Given the description of an element on the screen output the (x, y) to click on. 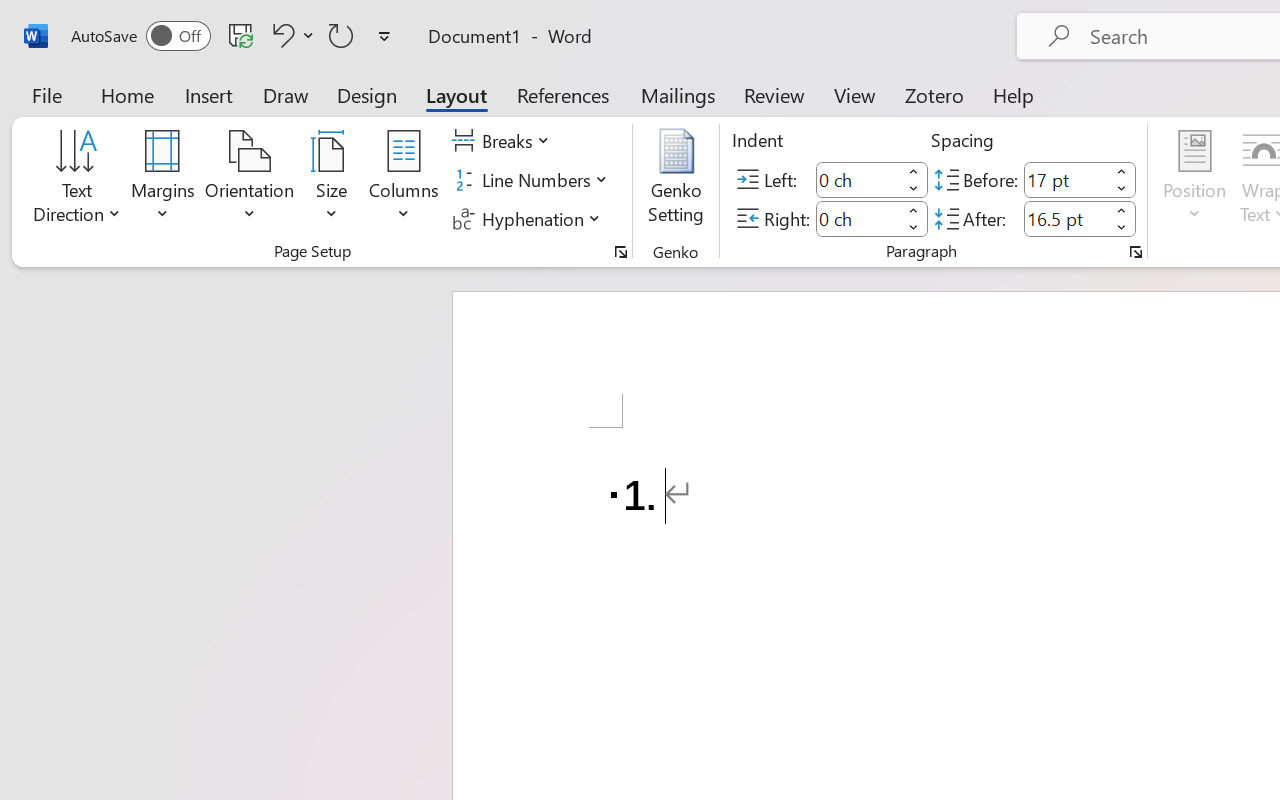
Undo Number Default (290, 35)
Spacing After (1066, 218)
Repeat Doc Close (341, 35)
Size (331, 179)
Text Direction (77, 179)
